Given the description of an element on the screen output the (x, y) to click on. 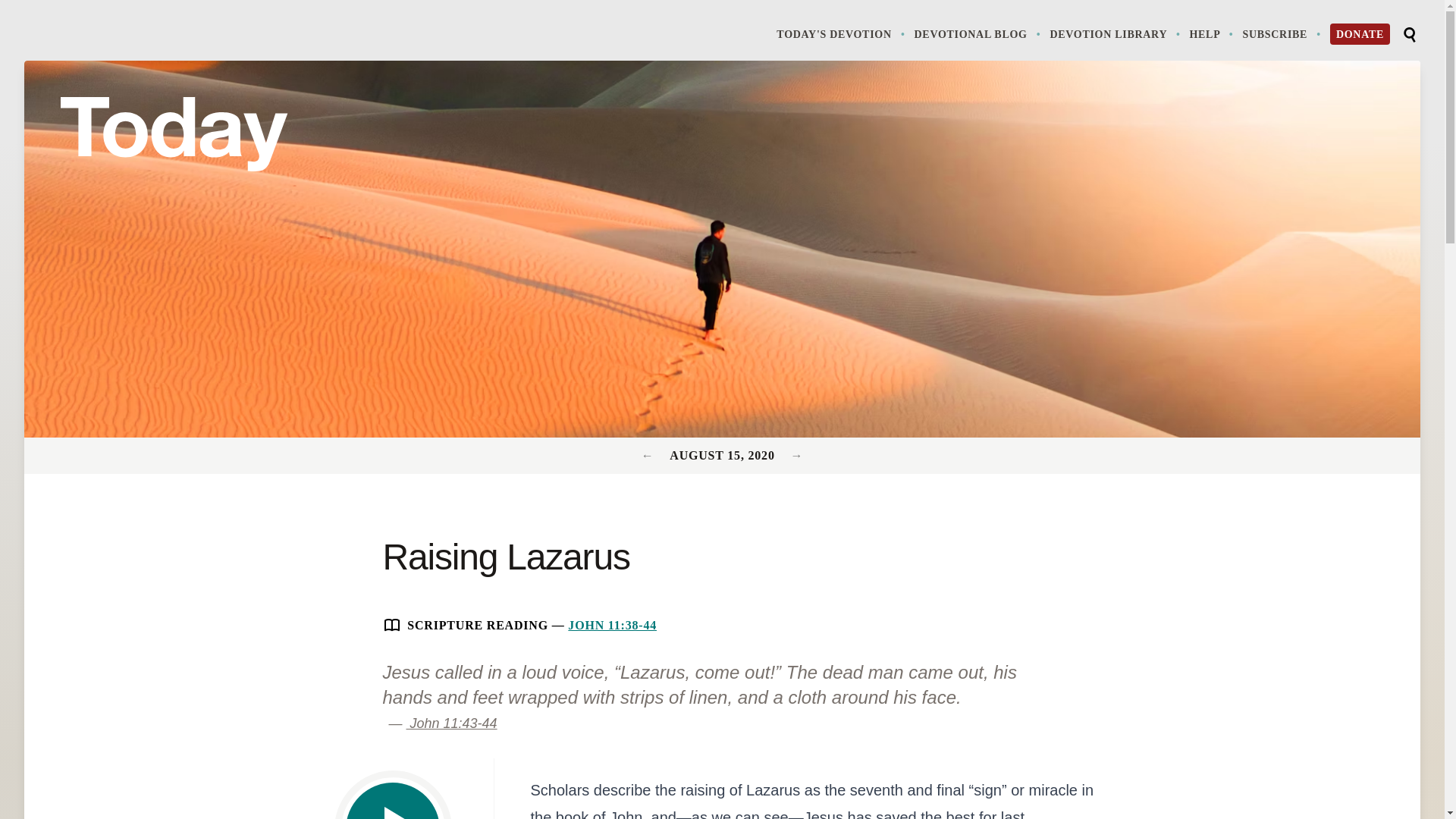
Search (1409, 34)
DEVOTIONAL BLOG (978, 34)
DEVOTION LIBRARY (1115, 34)
TODAY'S DEVOTION (841, 34)
John 11:43-44 (451, 723)
HELP (1212, 34)
Previous Devotion: August 16, 2020 (796, 454)
SUBSCRIBE (1282, 34)
JOHN 11:38-44 (611, 625)
Previous Devotion: August 14, 2020 (650, 454)
PLAY (392, 800)
DONATE (1360, 34)
